Given the description of an element on the screen output the (x, y) to click on. 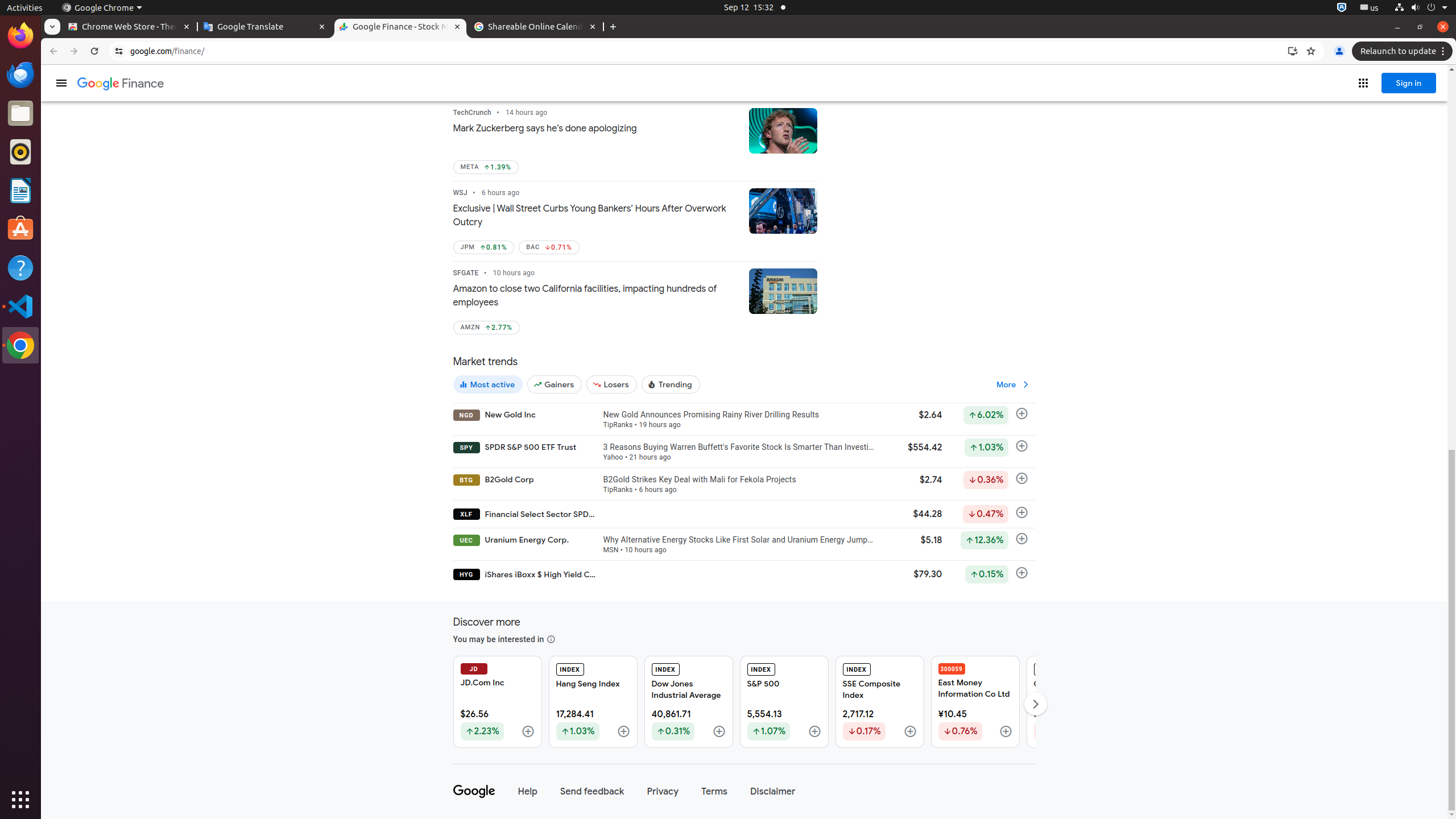
WSJ •  6 hours ago Exclusive | Wall Street Curbs Young Bankers’ Hours After Overwork Outcry Element type: link (595, 208)
B2Gold Strikes Key Deal with Mali for Fekola Projects TipRanks • 6 hours ago Element type: link (739, 483)
INDEX SSE Composite Index 2,717.12 Down by 0.17% Element type: link (879, 701)
You Element type: push-button (1339, 50)
SFGATE •  10 hours ago Amazon to close two California facilities, impacting hundreds of employees Element type: link (595, 288)
